Given the description of an element on the screen output the (x, y) to click on. 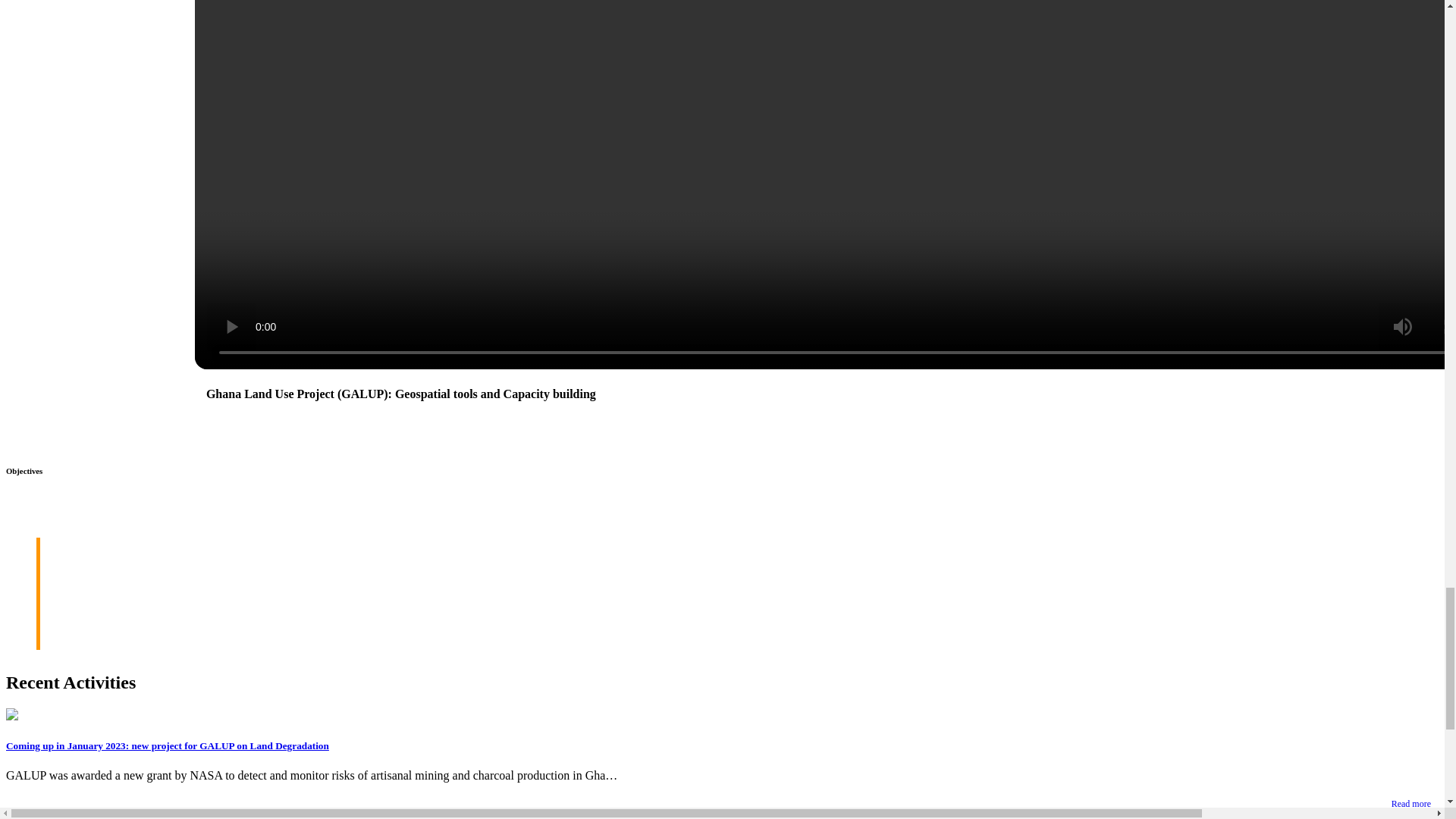
Read more (1411, 804)
